Given the description of an element on the screen output the (x, y) to click on. 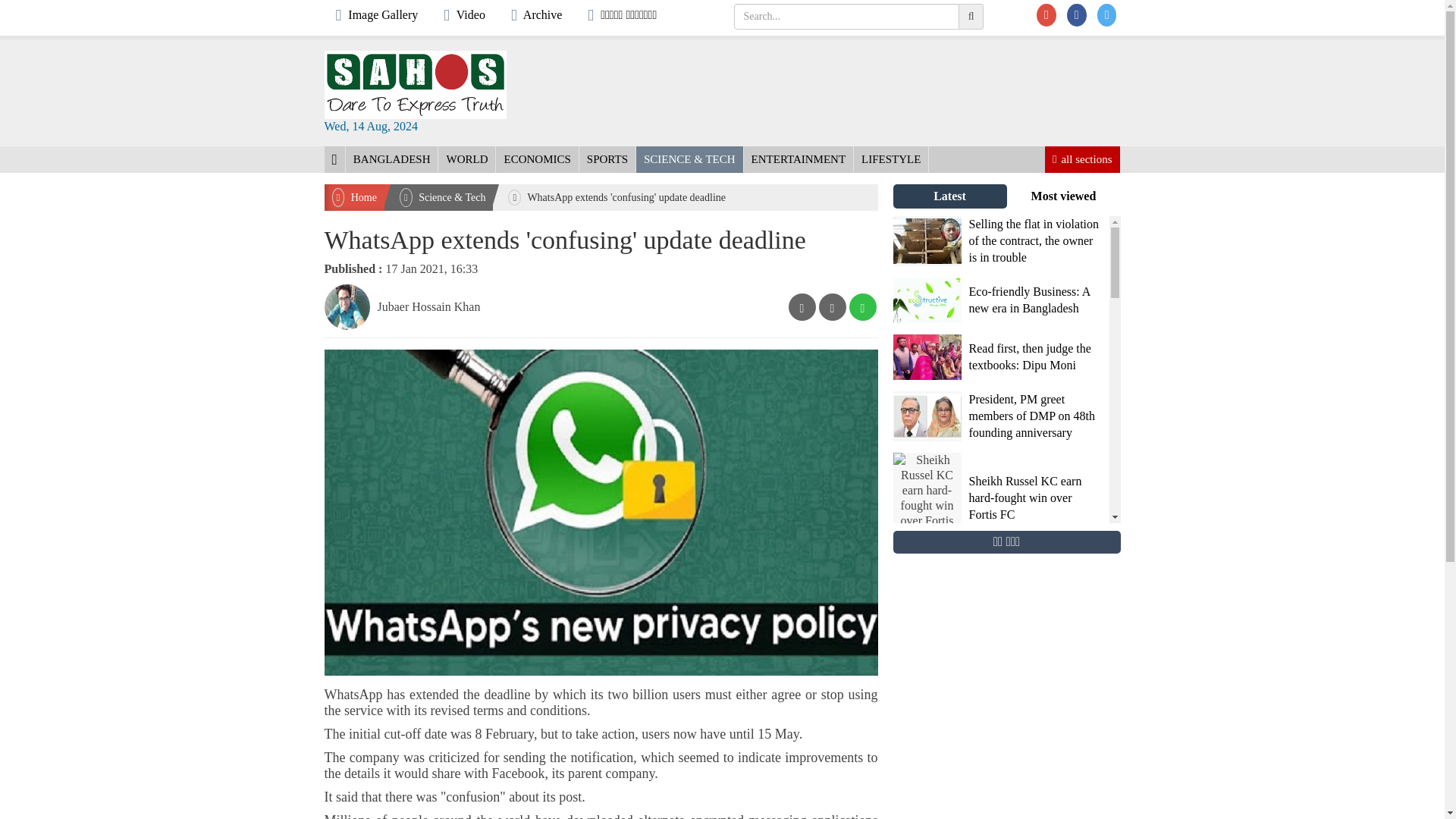
Print news (862, 307)
LIFESTYLE (890, 159)
ECONOMICS (537, 159)
ENTERTAINMENT (798, 159)
WORLD (466, 159)
Image Gallery (376, 15)
SPORTS (606, 159)
Archive (536, 15)
BANGLADESH (392, 159)
Video (464, 15)
